Given the description of an element on the screen output the (x, y) to click on. 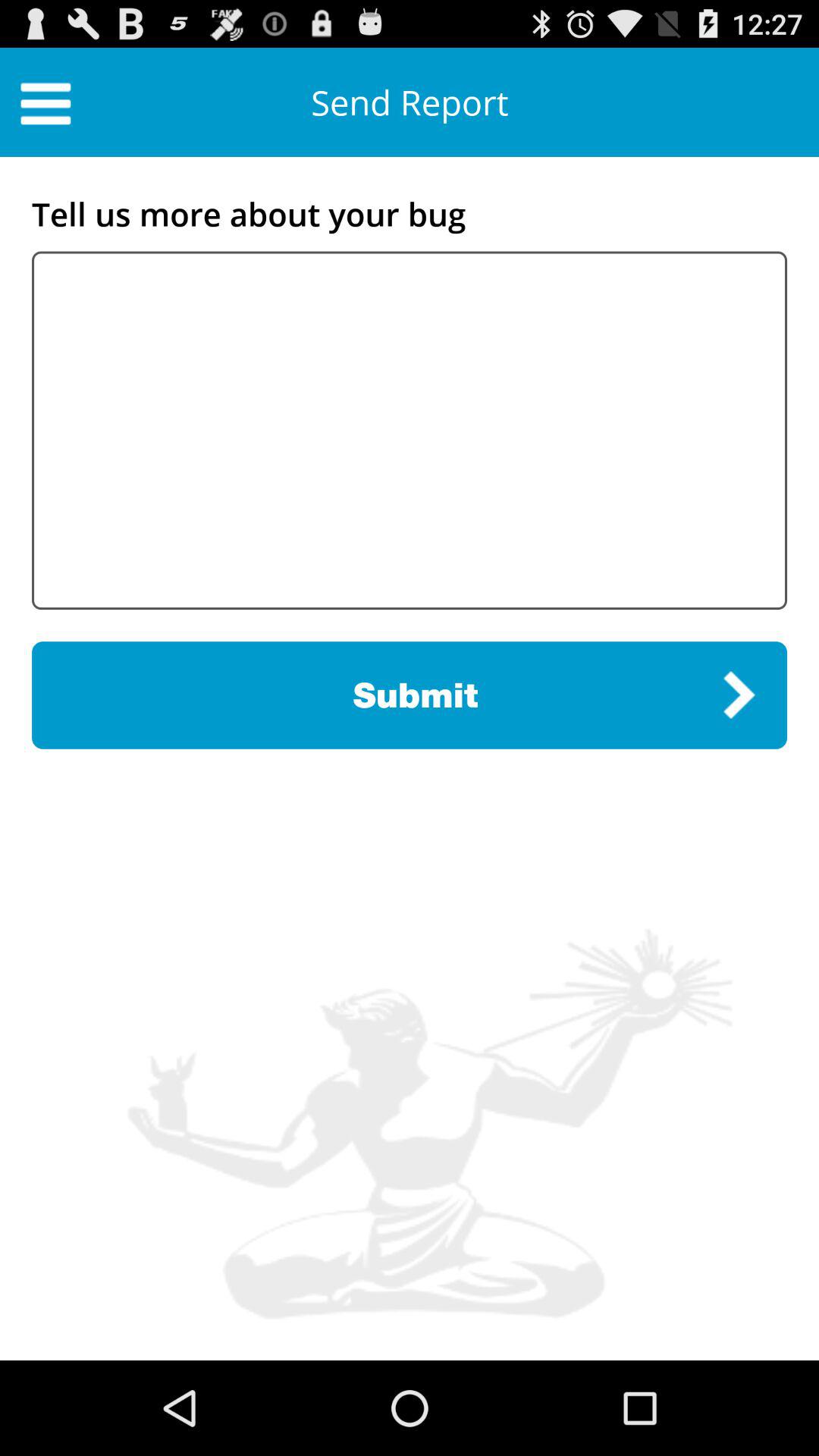
report form entry (409, 430)
